Given the description of an element on the screen output the (x, y) to click on. 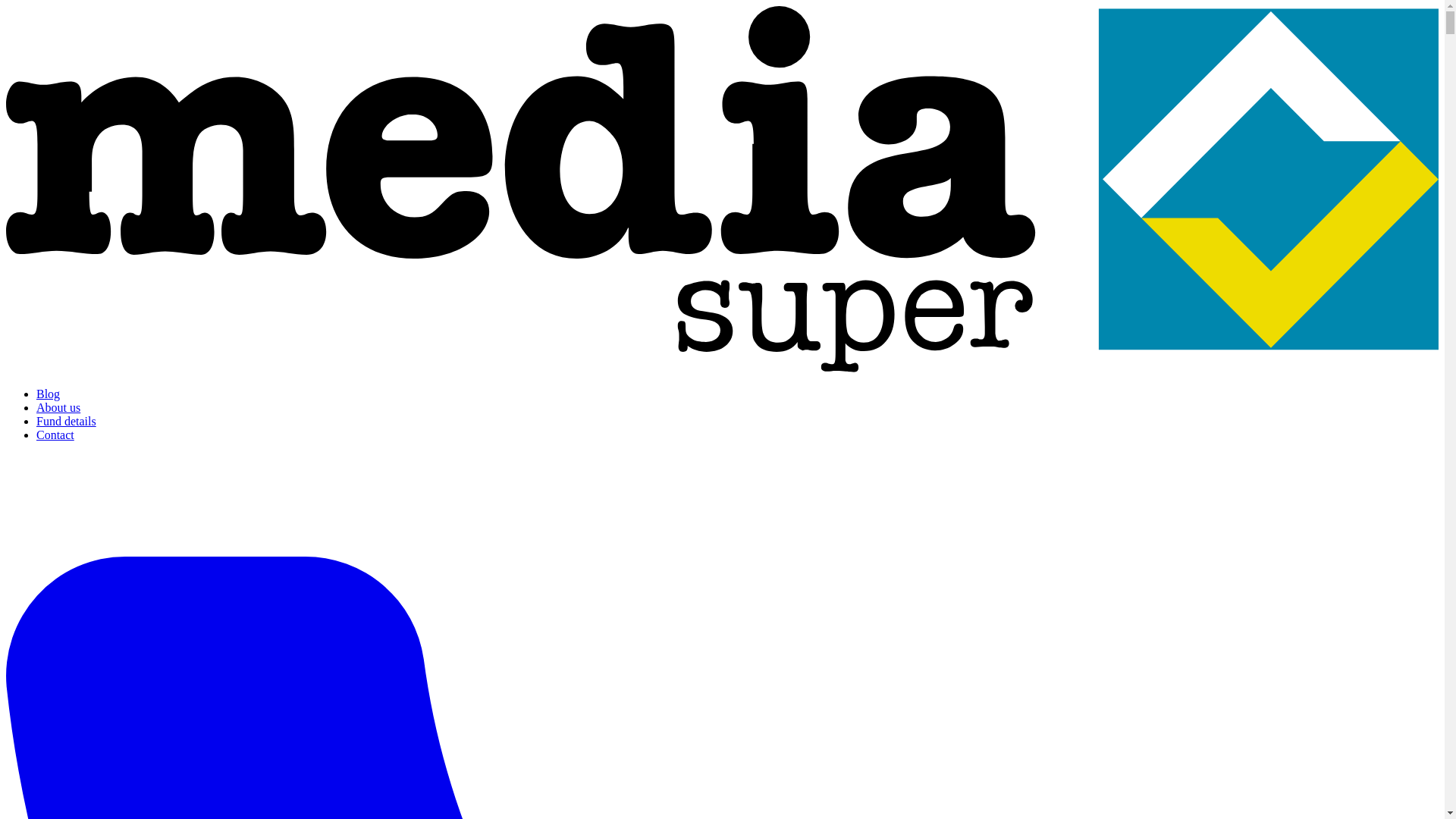
About us (58, 407)
Blog (47, 393)
Contact (55, 434)
Fund details (66, 420)
